Given the description of an element on the screen output the (x, y) to click on. 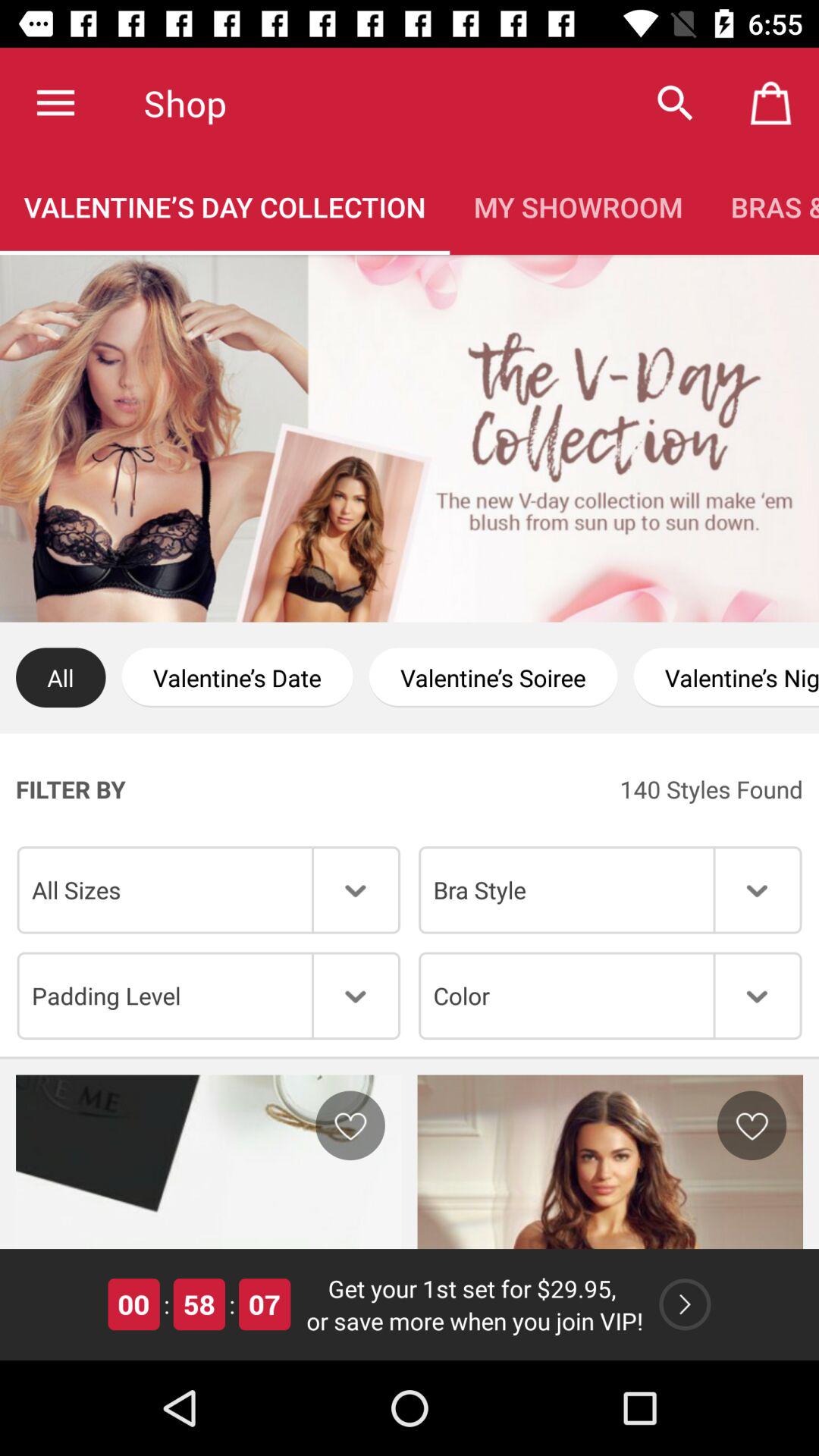
click on tab just above the text 140 styles found (726, 677)
select the 1st option which is above the second image (208, 995)
select the button which is at bottom right corner of page (685, 1304)
